Given the description of an element on the screen output the (x, y) to click on. 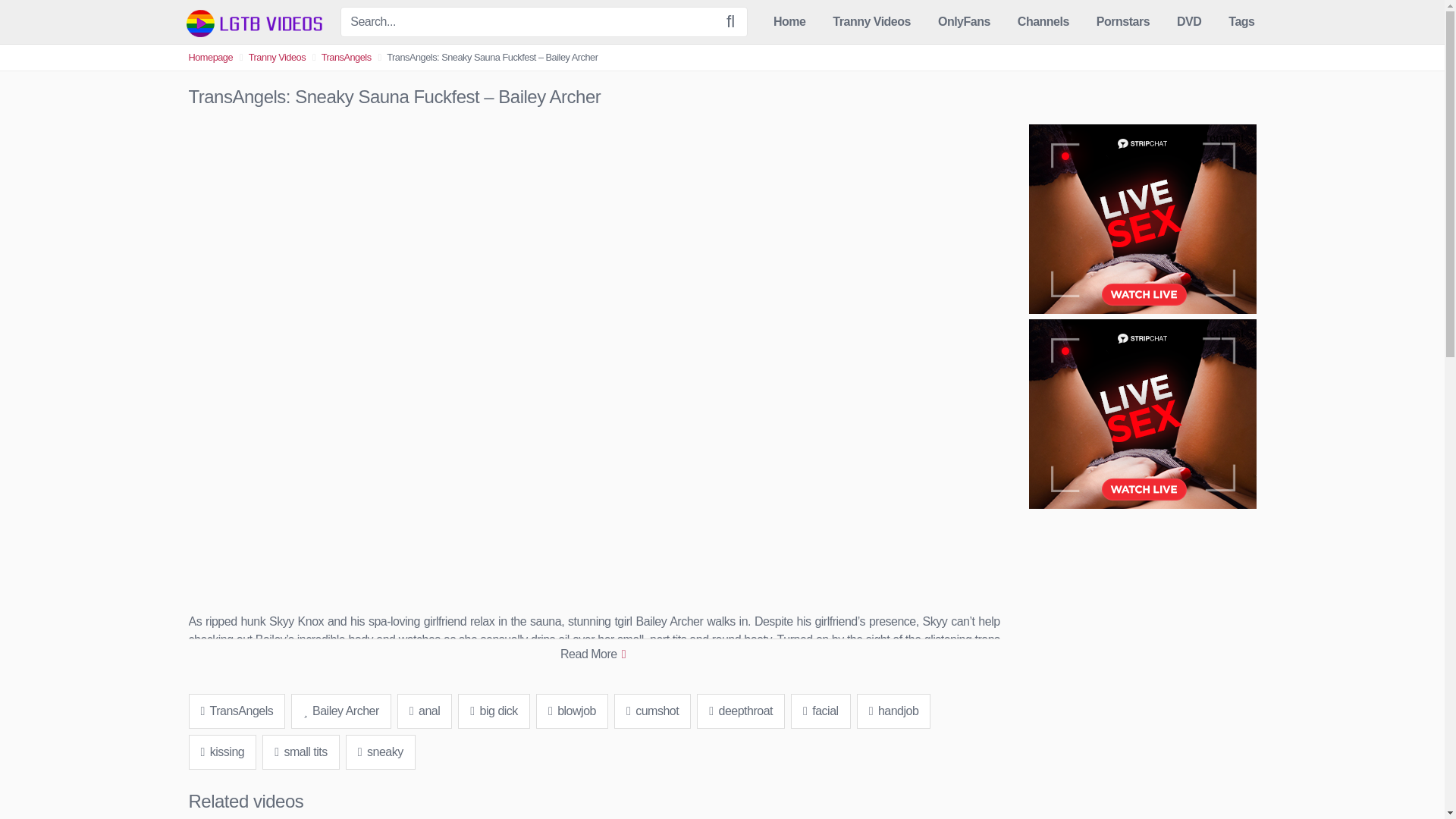
DVD (1188, 22)
blowjob (571, 710)
Tranny Videos (871, 22)
Homepage (209, 57)
Tags (1241, 22)
Channels (1043, 22)
TransAngels (236, 710)
big dick (493, 710)
Pornstars (1123, 22)
anal (424, 710)
